Given the description of an element on the screen output the (x, y) to click on. 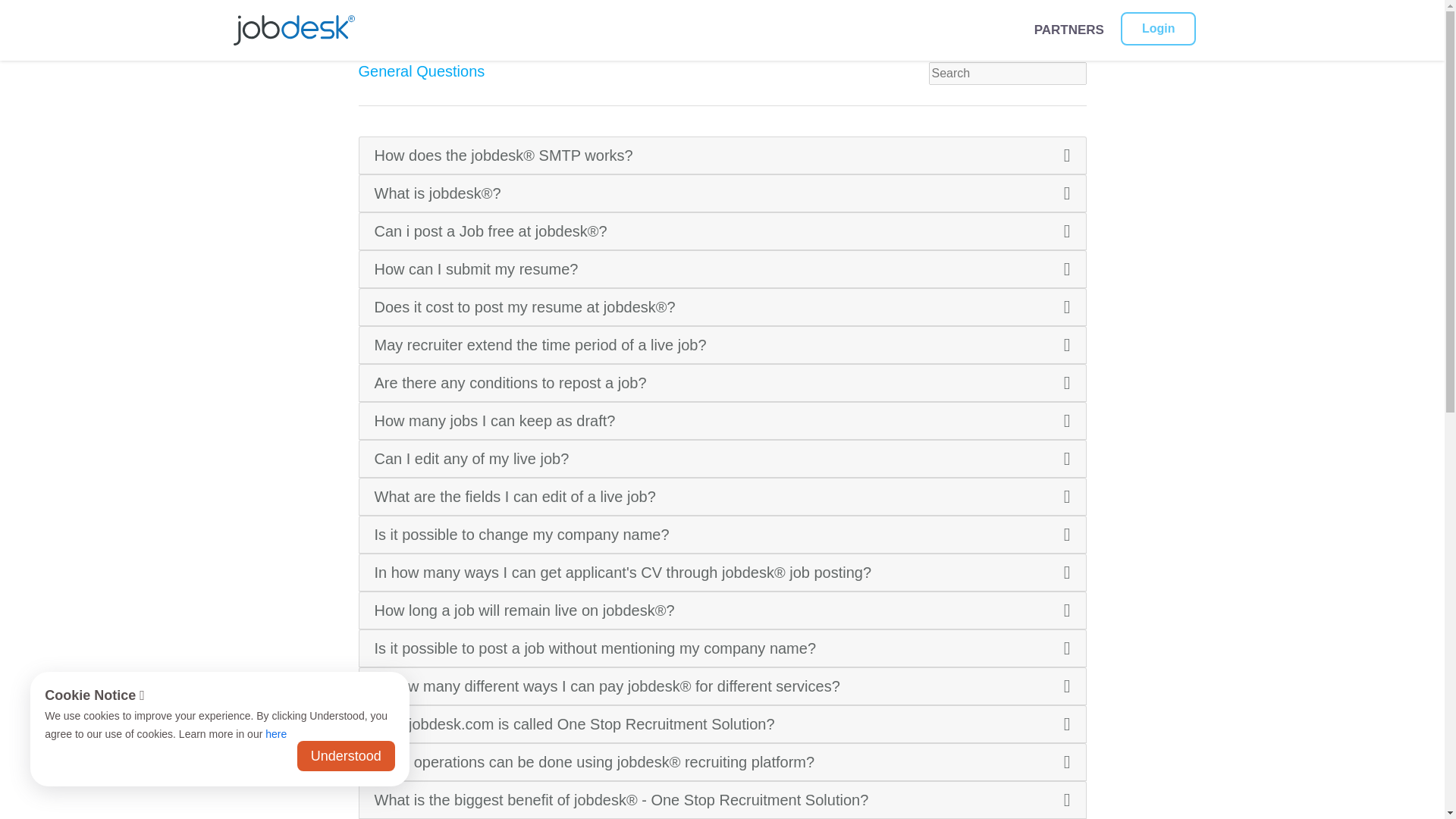
Understood (345, 756)
Login (1158, 28)
PARTNERS (1068, 30)
here (275, 734)
